Given the description of an element on the screen output the (x, y) to click on. 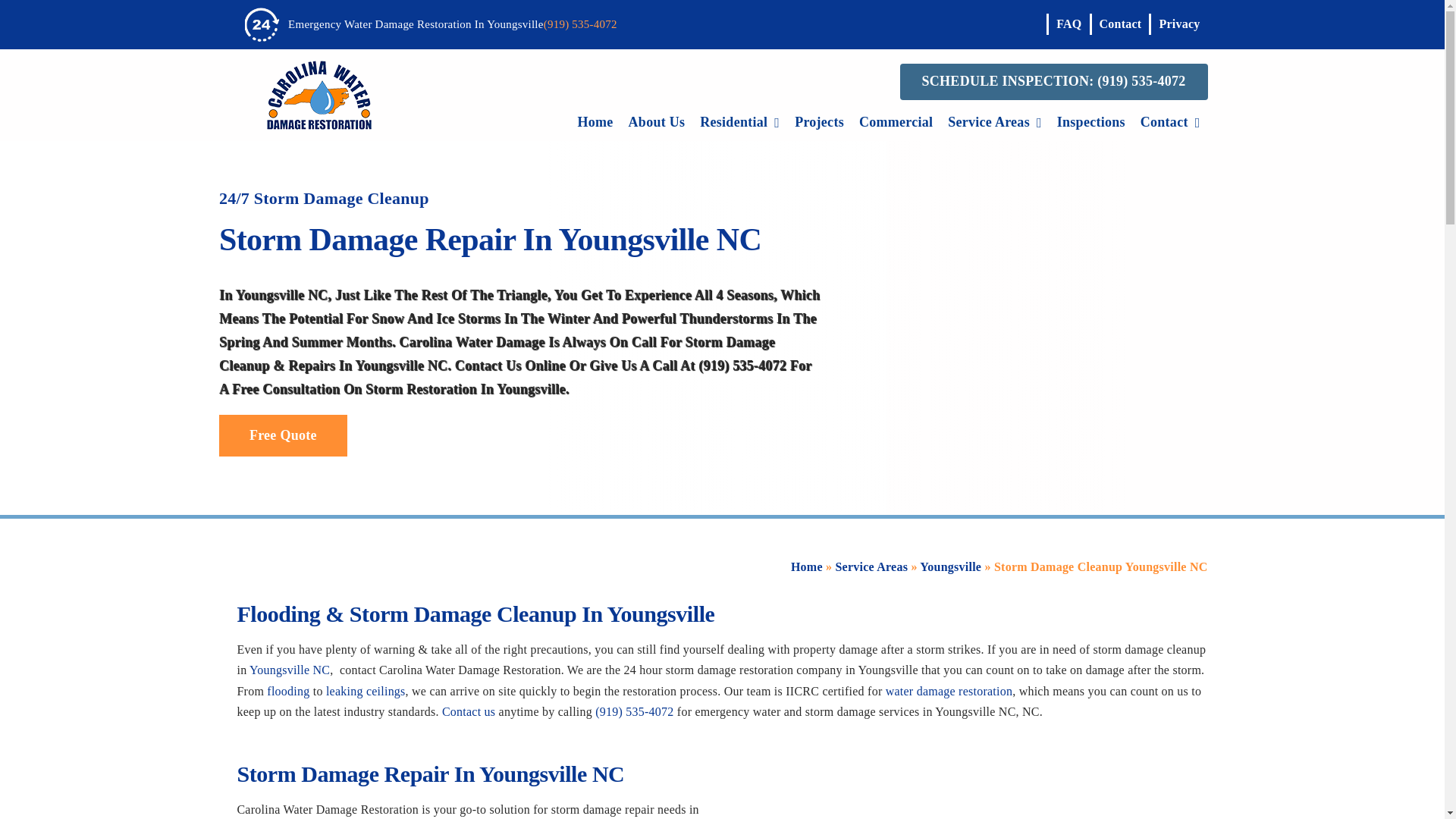
Storm Damage Cleanup Youngsville NC 1 (261, 24)
Storm Damage Cleanup Youngsville NC 2 (318, 94)
Privacy (1177, 24)
FAQ (1067, 24)
Contact (1118, 24)
